Given the description of an element on the screen output the (x, y) to click on. 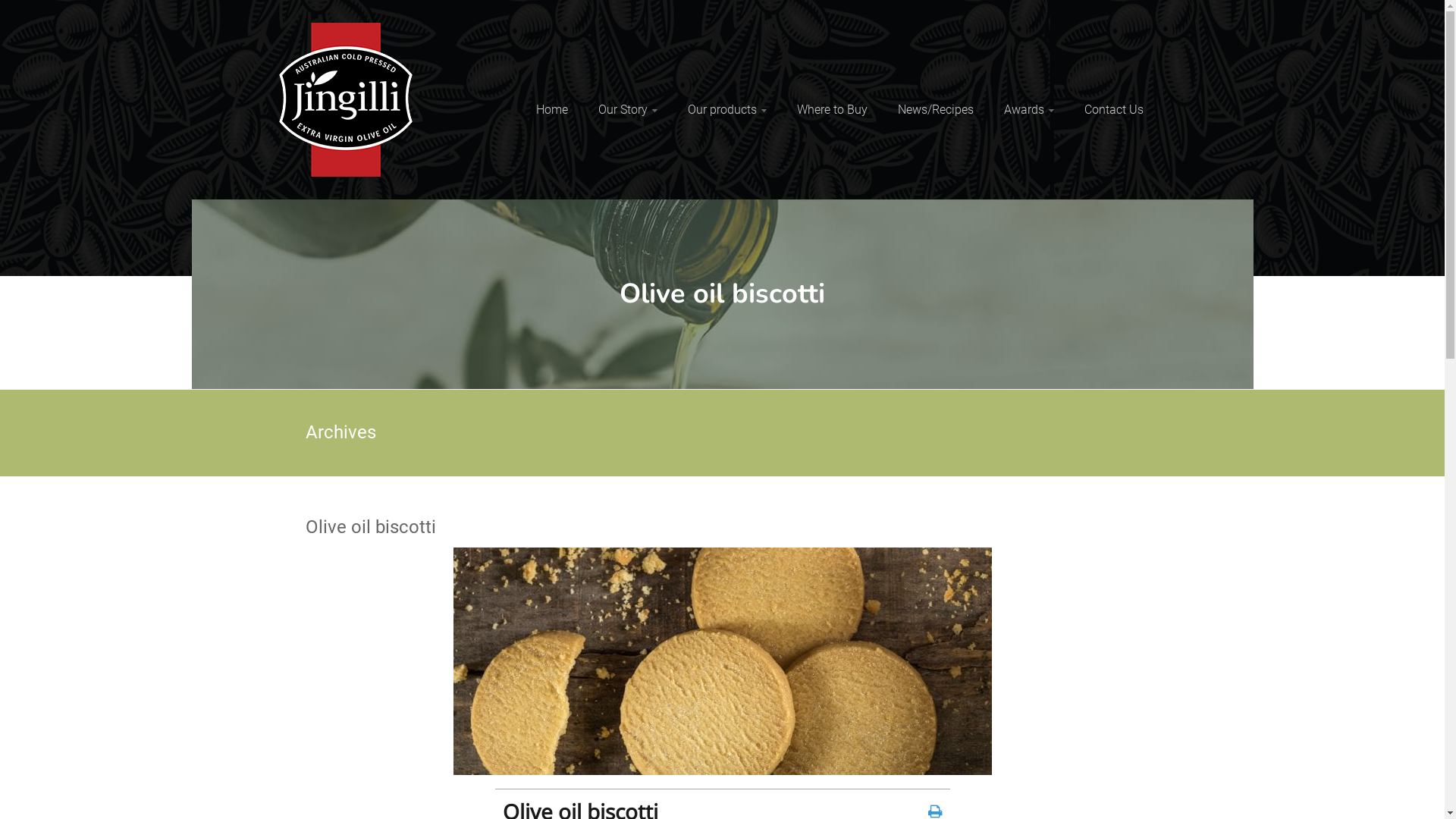
Awards Element type: text (1029, 109)
Home Element type: text (551, 109)
Our products Element type: text (726, 109)
Olive oil biscotti Element type: hover (722, 555)
News/Recipes Element type: text (935, 109)
Our Story Element type: text (626, 109)
Olive oil biscotti Element type: text (721, 527)
Olive oil biscotti Element type: hover (722, 661)
Where to Buy Element type: text (831, 109)
Contact Us Element type: text (1113, 109)
Jingilli Element type: text (455, 40)
